Given the description of an element on the screen output the (x, y) to click on. 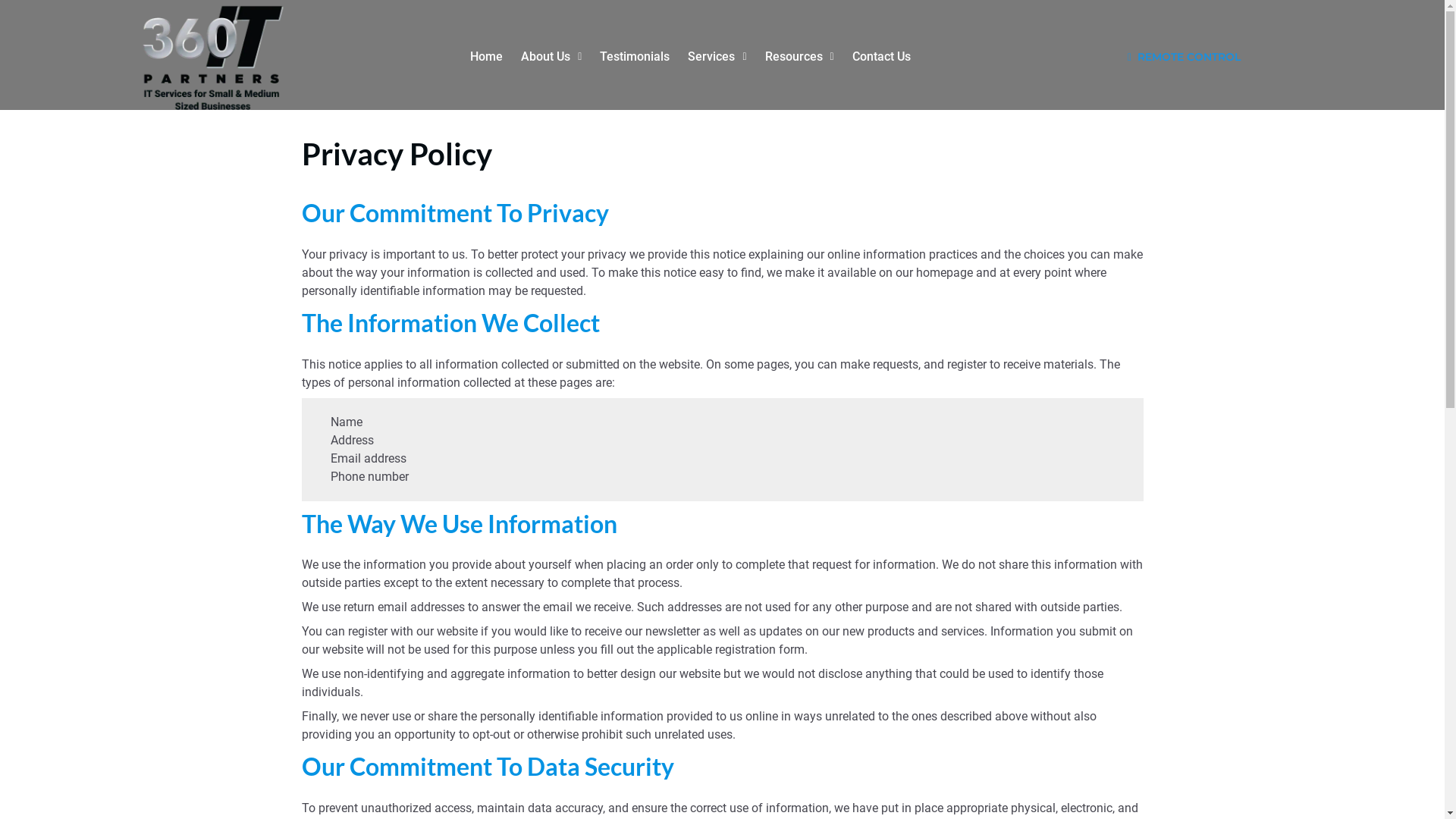
Home Element type: text (486, 56)
Resources Element type: text (799, 56)
Testimonials Element type: text (634, 56)
About Us Element type: text (550, 56)
Services Element type: text (716, 56)
REMOTE CONTROL Element type: text (1183, 56)
Contact Us Element type: text (881, 56)
